Given the description of an element on the screen output the (x, y) to click on. 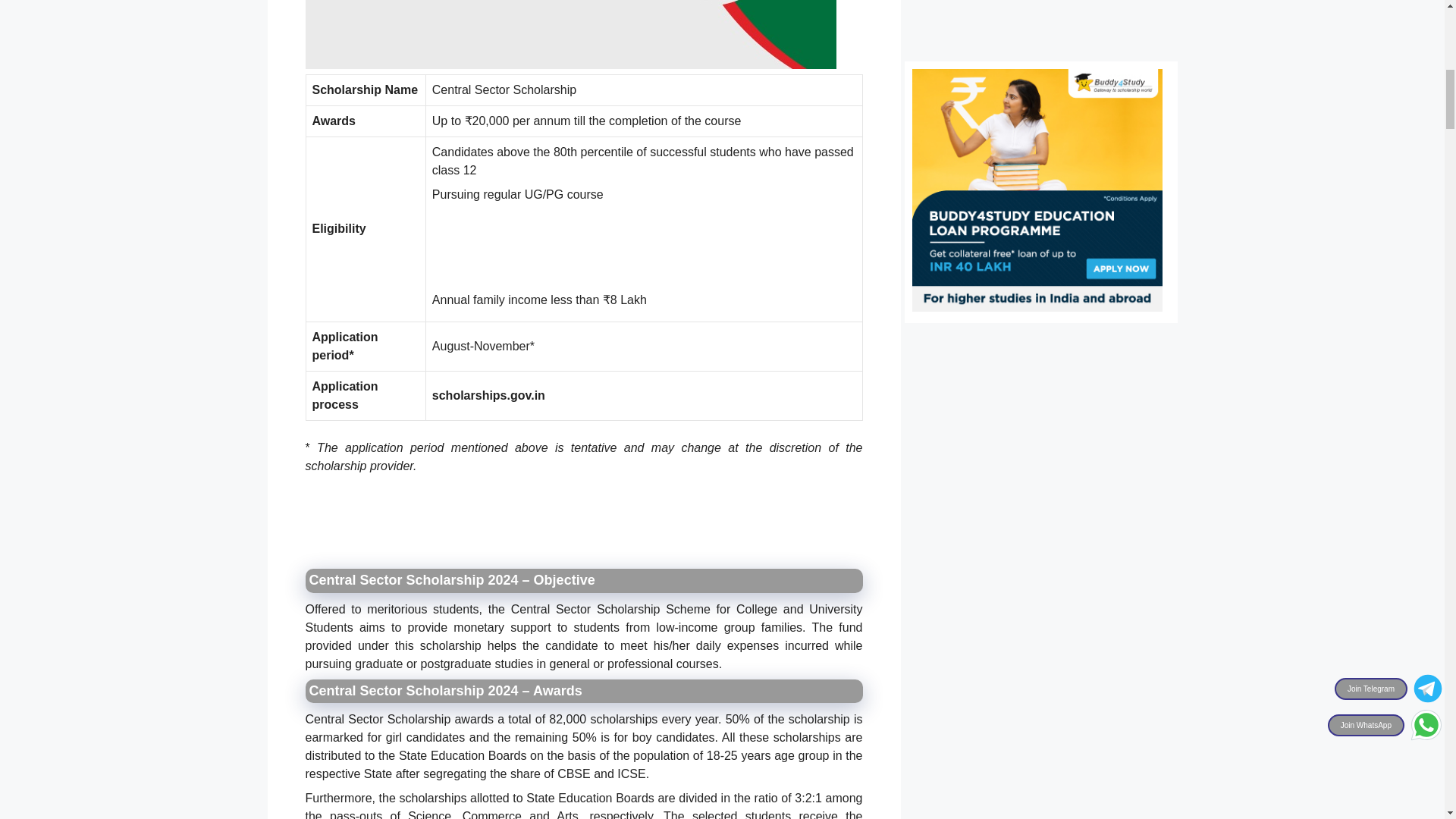
Scroll back to top (1406, 720)
